Given the description of an element on the screen output the (x, y) to click on. 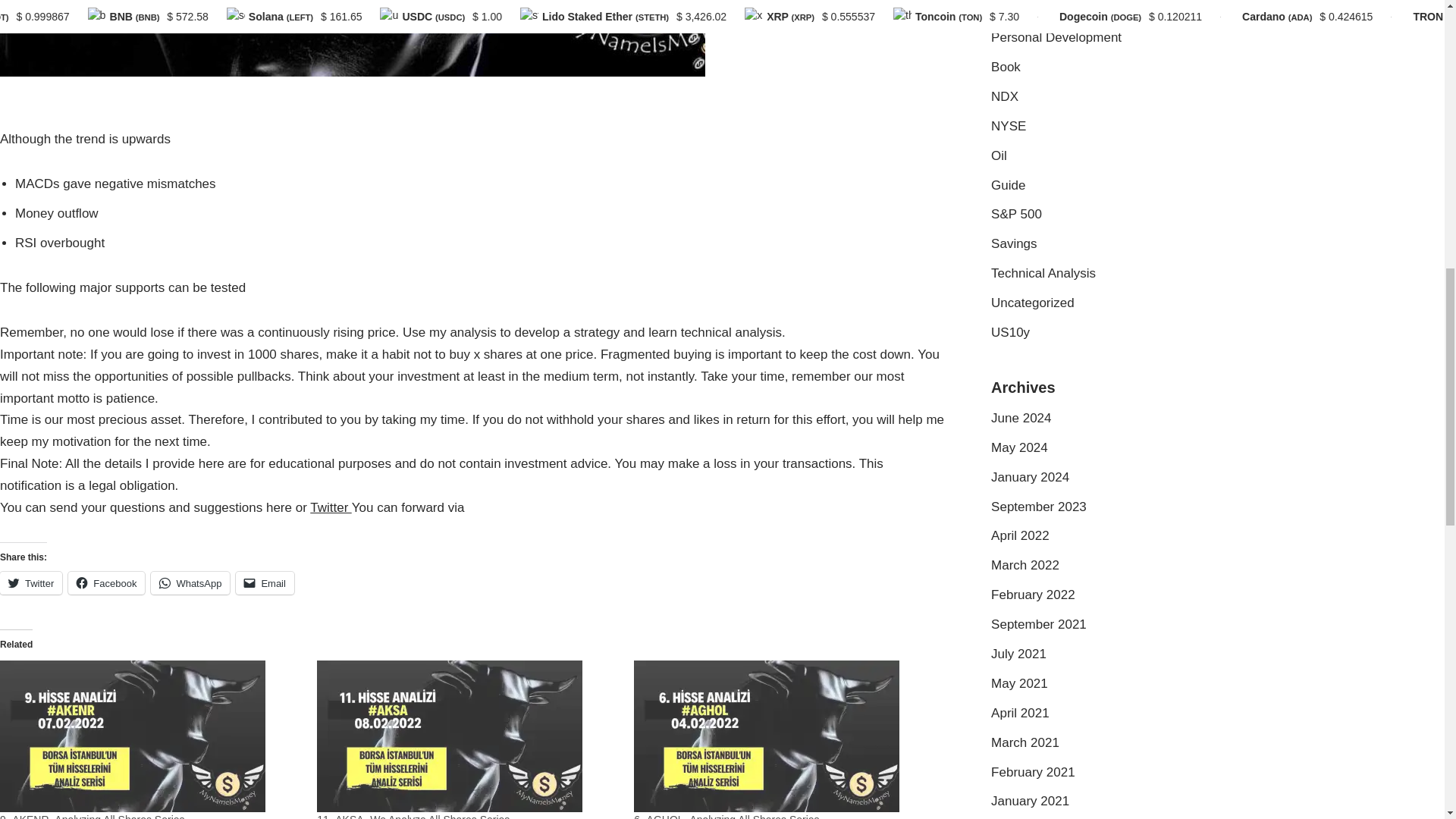
Click to share on Facebook (106, 582)
Click to share on Twitter (31, 582)
